Given the description of an element on the screen output the (x, y) to click on. 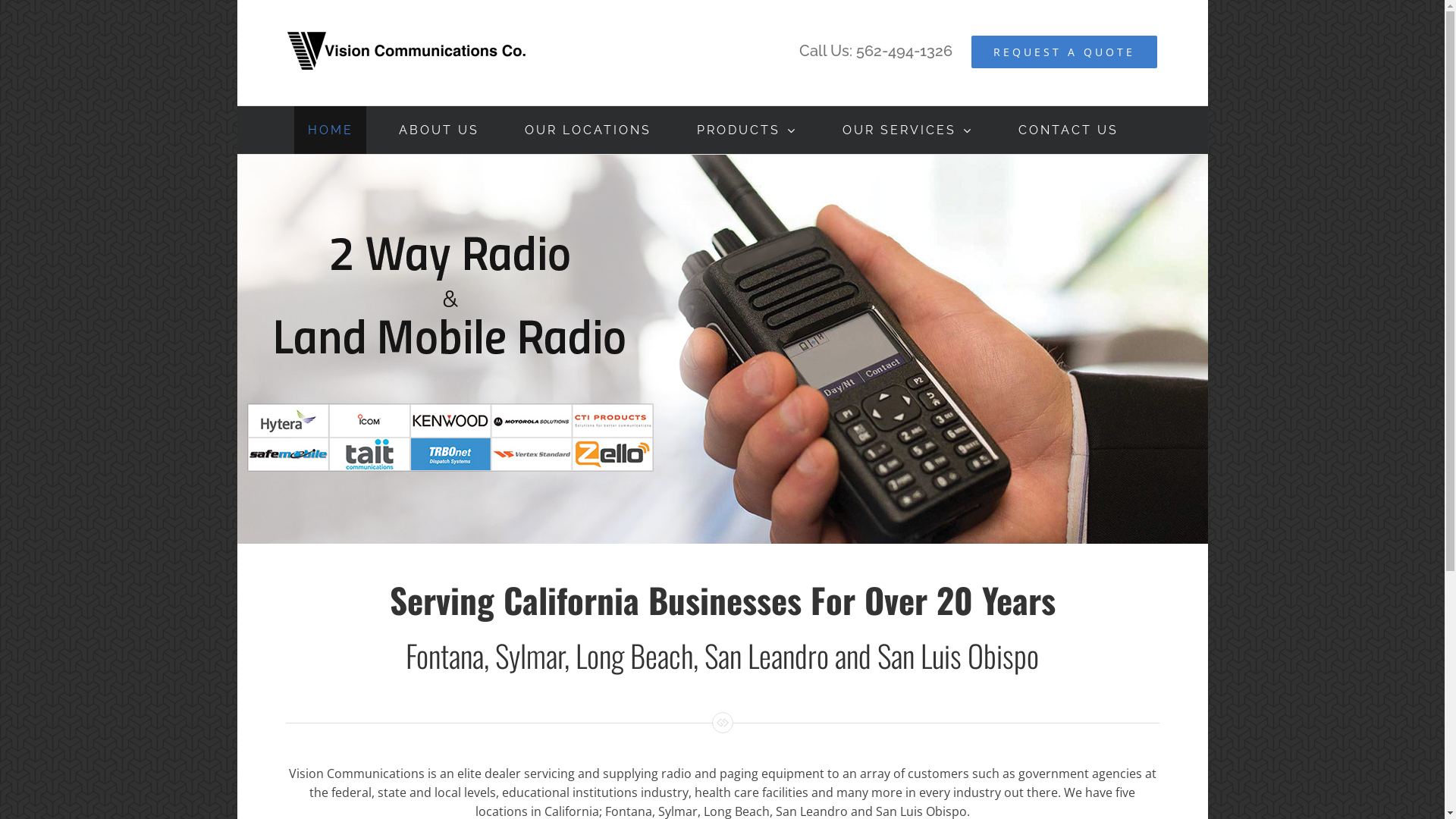
REQUEST A QUOTE Element type: text (1064, 51)
OUR SERVICES Element type: text (906, 129)
CONTACT US Element type: text (1067, 129)
HOME Element type: text (330, 129)
PRODUCTS Element type: text (746, 129)
ABOUT US Element type: text (438, 129)
OUR LOCATIONS Element type: text (587, 129)
